Given the description of an element on the screen output the (x, y) to click on. 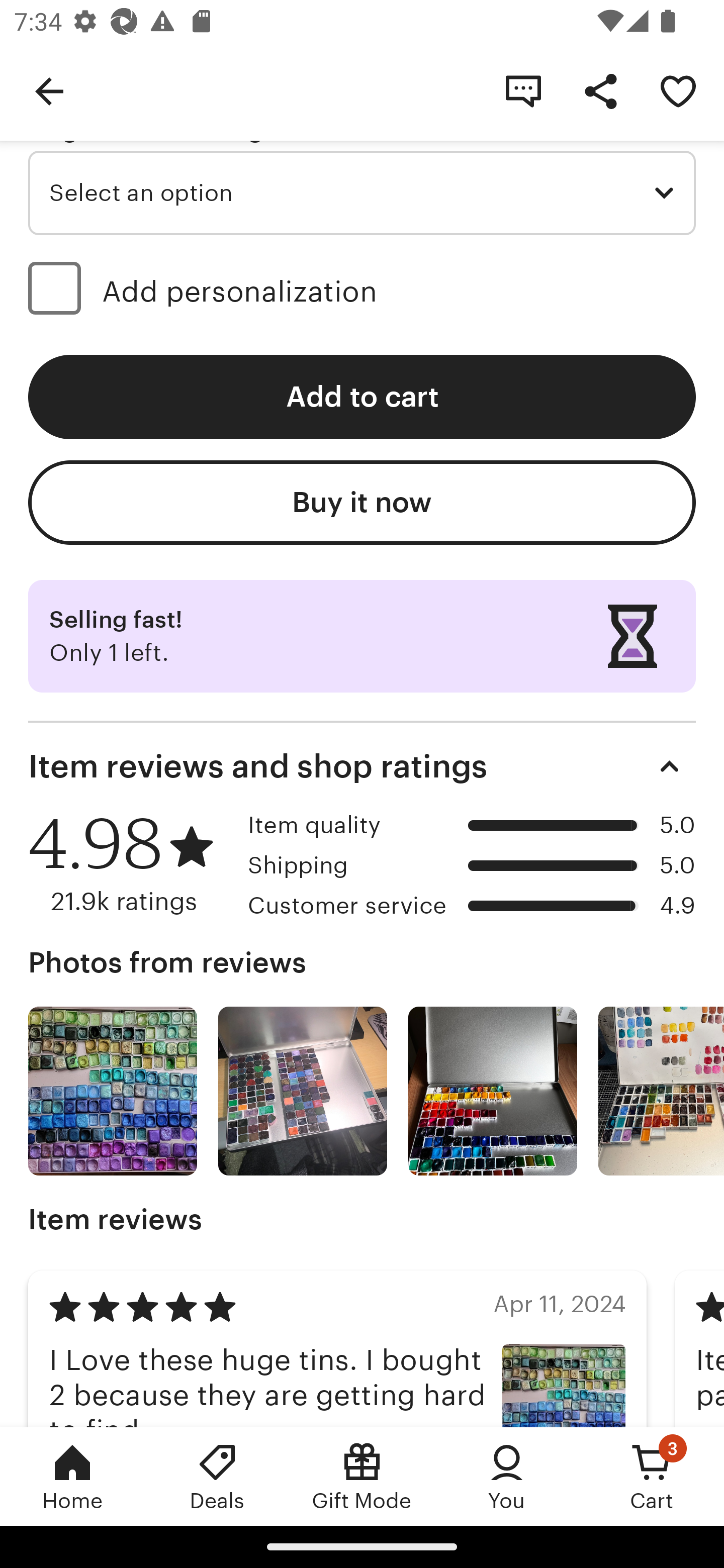
Navigate up (49, 90)
Contact shop (523, 90)
Share (600, 90)
Select an option (361, 192)
Add personalization (optional) Add personalization (362, 291)
Add to cart (361, 396)
Buy it now (361, 502)
Item reviews and shop ratings (362, 766)
4.98 21.9k ratings (130, 863)
Photo from review (112, 1091)
Photo from review (302, 1091)
Photo from review (492, 1091)
Photo from review (661, 1091)
Rating: 5.0 out of 5,  reviews Apr 11, 2024 Nicki (337, 1348)
Deals (216, 1475)
Gift Mode (361, 1475)
You (506, 1475)
Cart, 3 new notifications Cart (651, 1475)
